Given the description of an element on the screen output the (x, y) to click on. 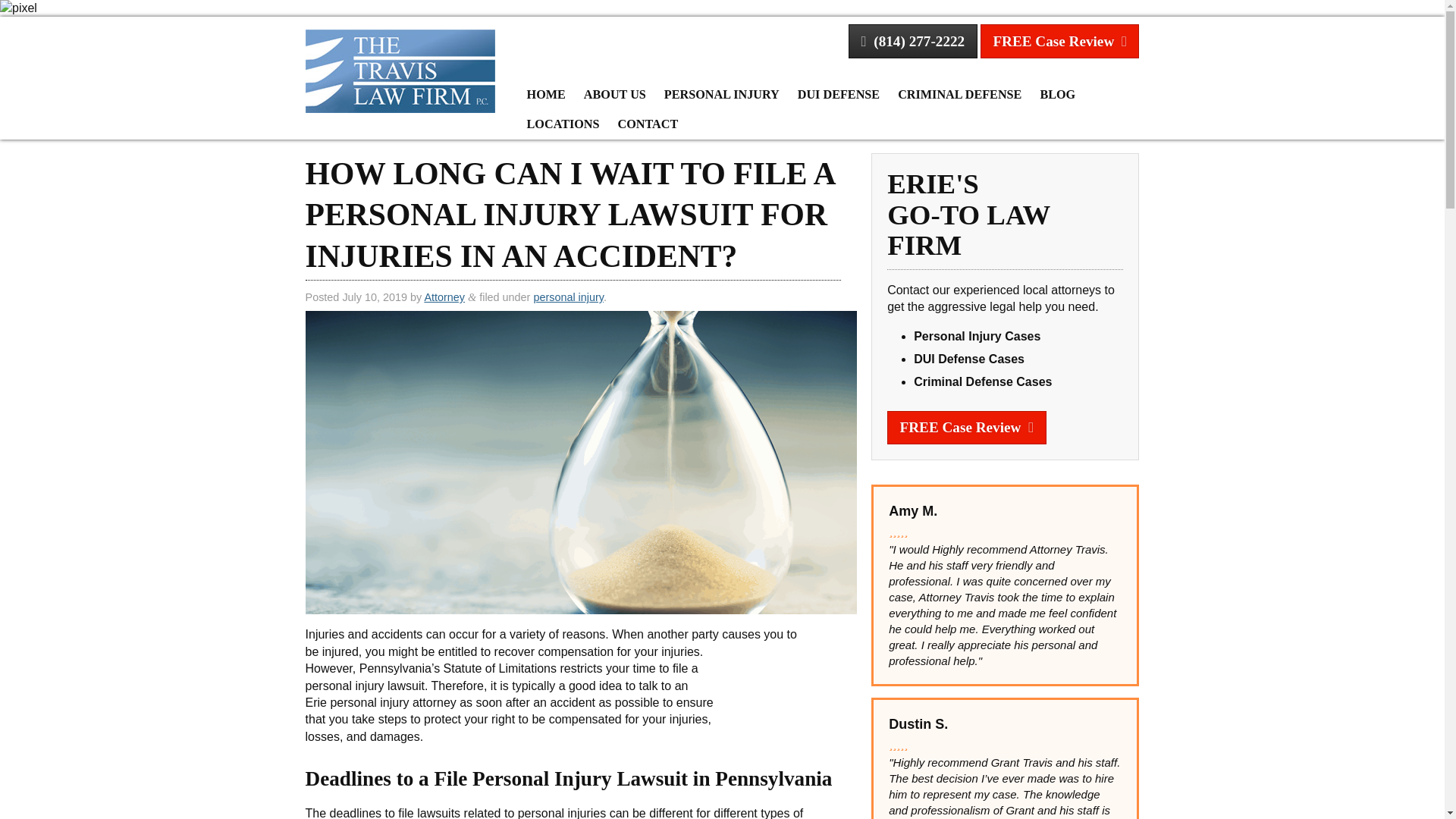
FREE Case Review (1058, 40)
BLOG (1057, 95)
Posts by Attorney (443, 297)
CRIMINAL DEFENSE (959, 95)
ABOUT US (615, 95)
DUI DEFENSE (838, 95)
HOME (546, 95)
The Travis Law Firm (400, 69)
LOCATIONS (563, 124)
PERSONAL INJURY (722, 95)
